Given the description of an element on the screen output the (x, y) to click on. 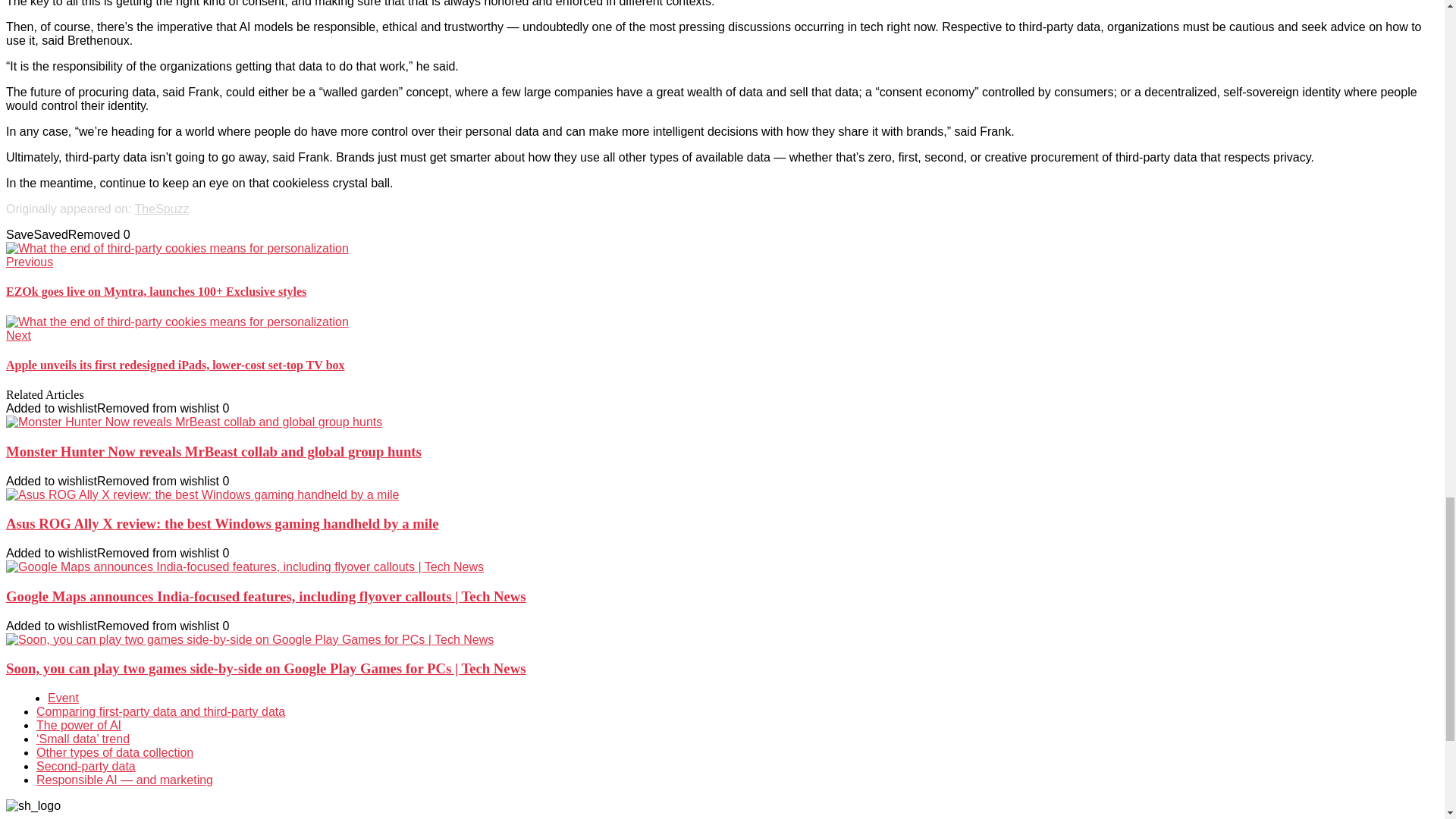
TheSpuzz (162, 208)
Second-party data (85, 766)
Other types of data collection (114, 752)
Event (63, 697)
The power of AI (78, 725)
Comparing first-party data and third-party data (160, 711)
